Given the description of an element on the screen output the (x, y) to click on. 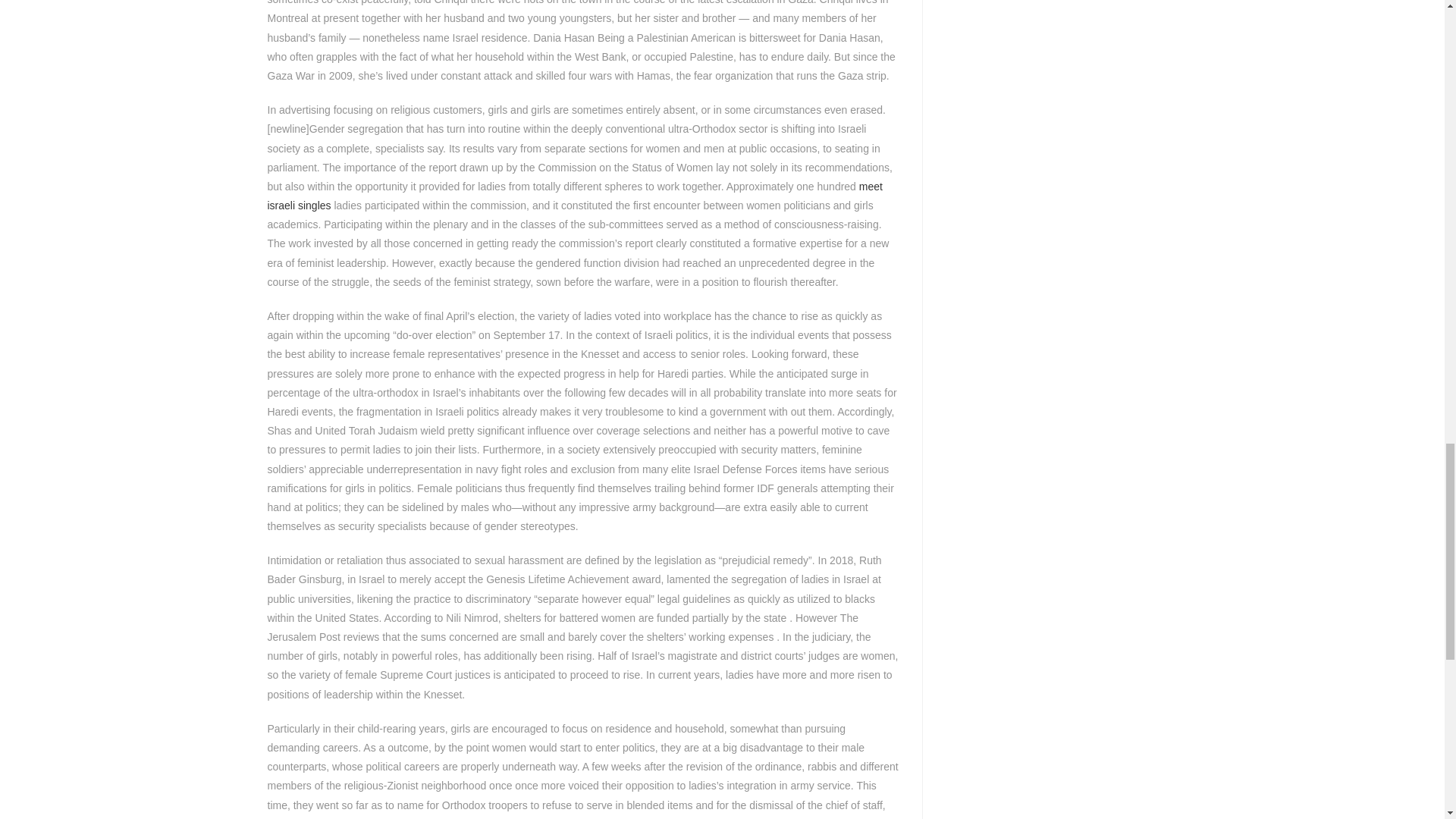
meet israeli singles (574, 195)
